Given the description of an element on the screen output the (x, y) to click on. 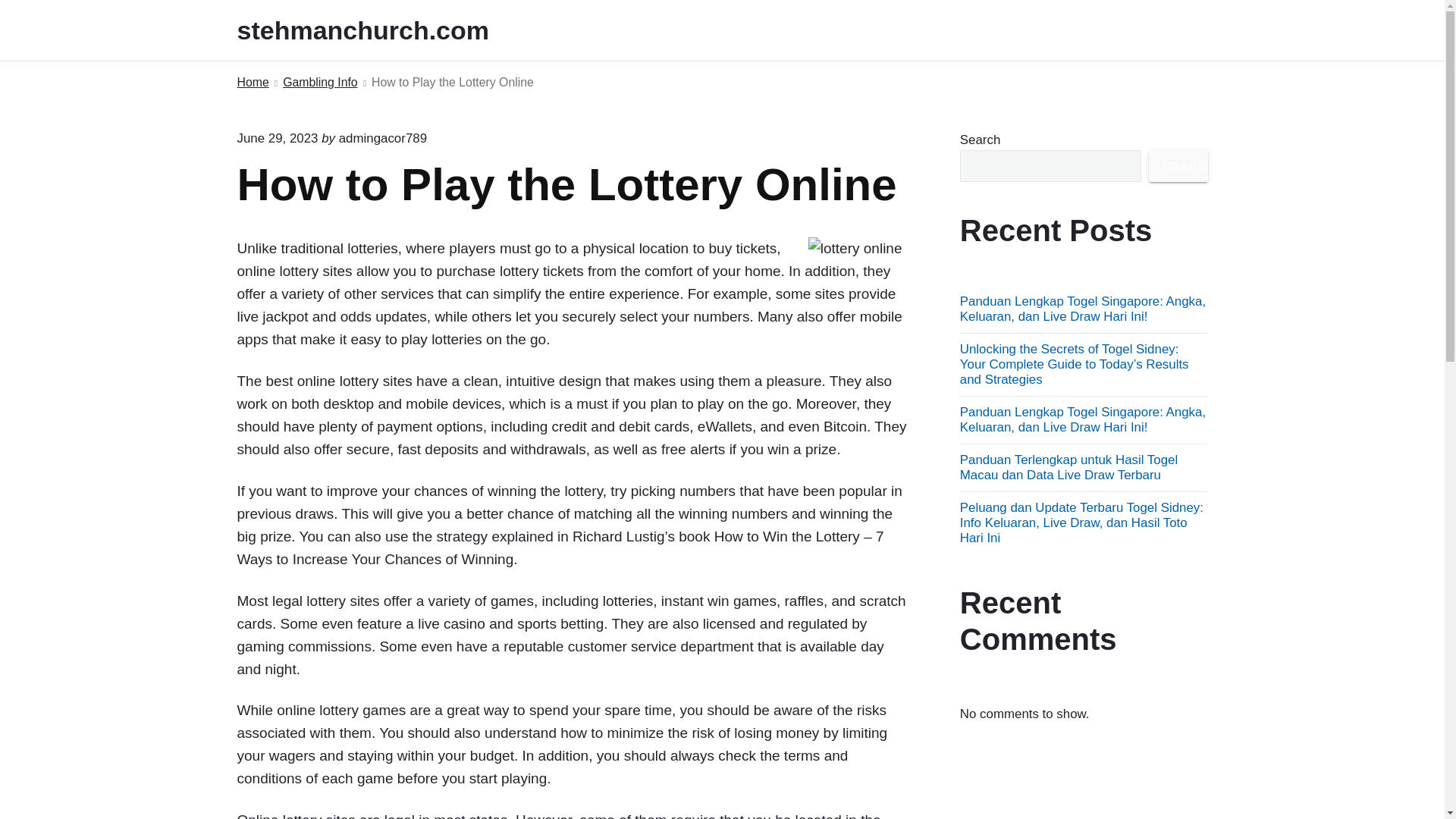
Posts by admingacor789 (382, 138)
stehmanchurch.com (383, 30)
Gambling Info (320, 82)
admingacor789 (382, 138)
Thursday, June 29, 2023, 6:25 pm (276, 138)
SEARCH (1178, 165)
